Given the description of an element on the screen output the (x, y) to click on. 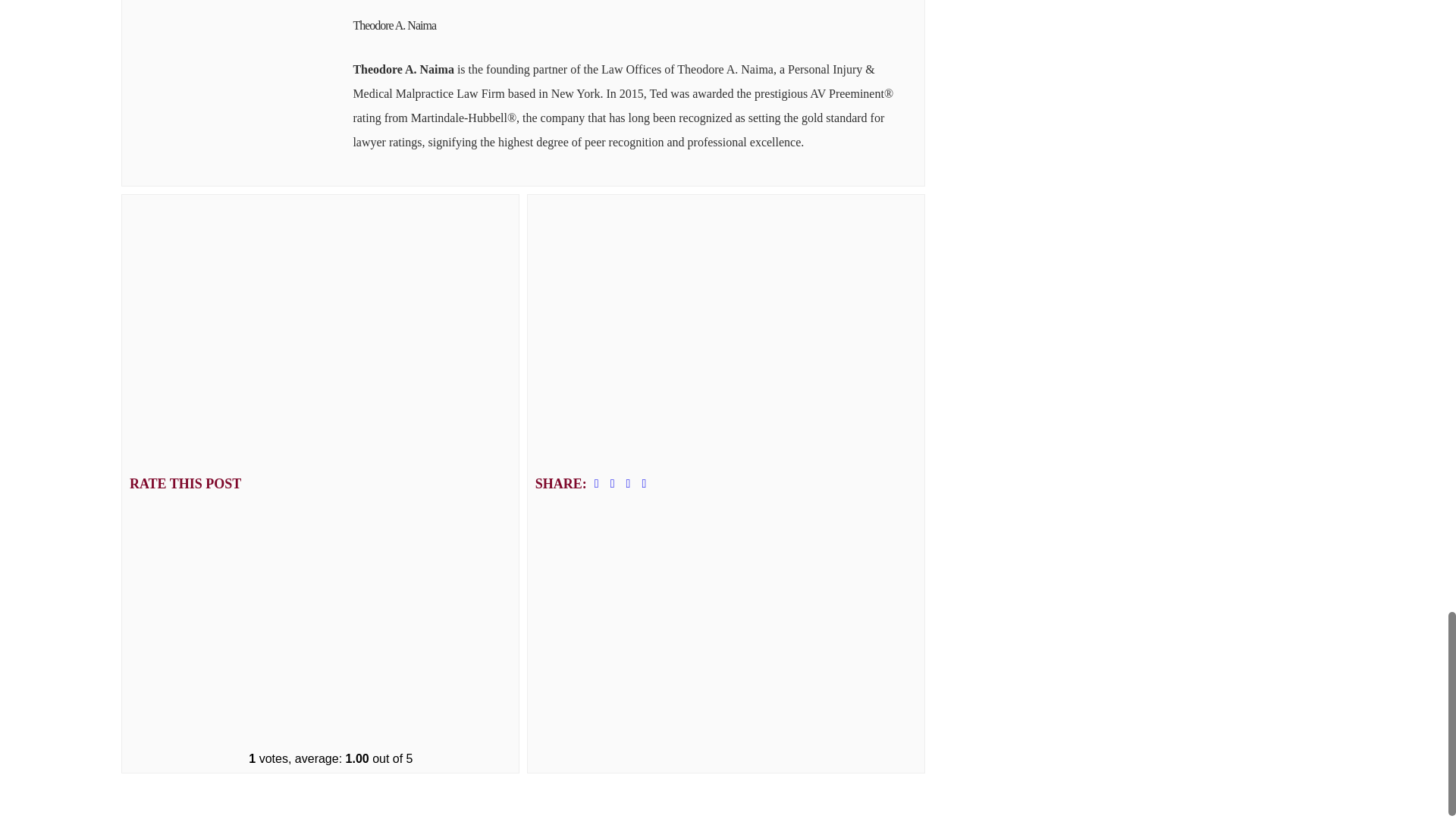
2 Stars (328, 366)
3 Stars (328, 475)
5 Stars (328, 695)
4 Stars (328, 585)
1 Star (328, 256)
